Given the description of an element on the screen output the (x, y) to click on. 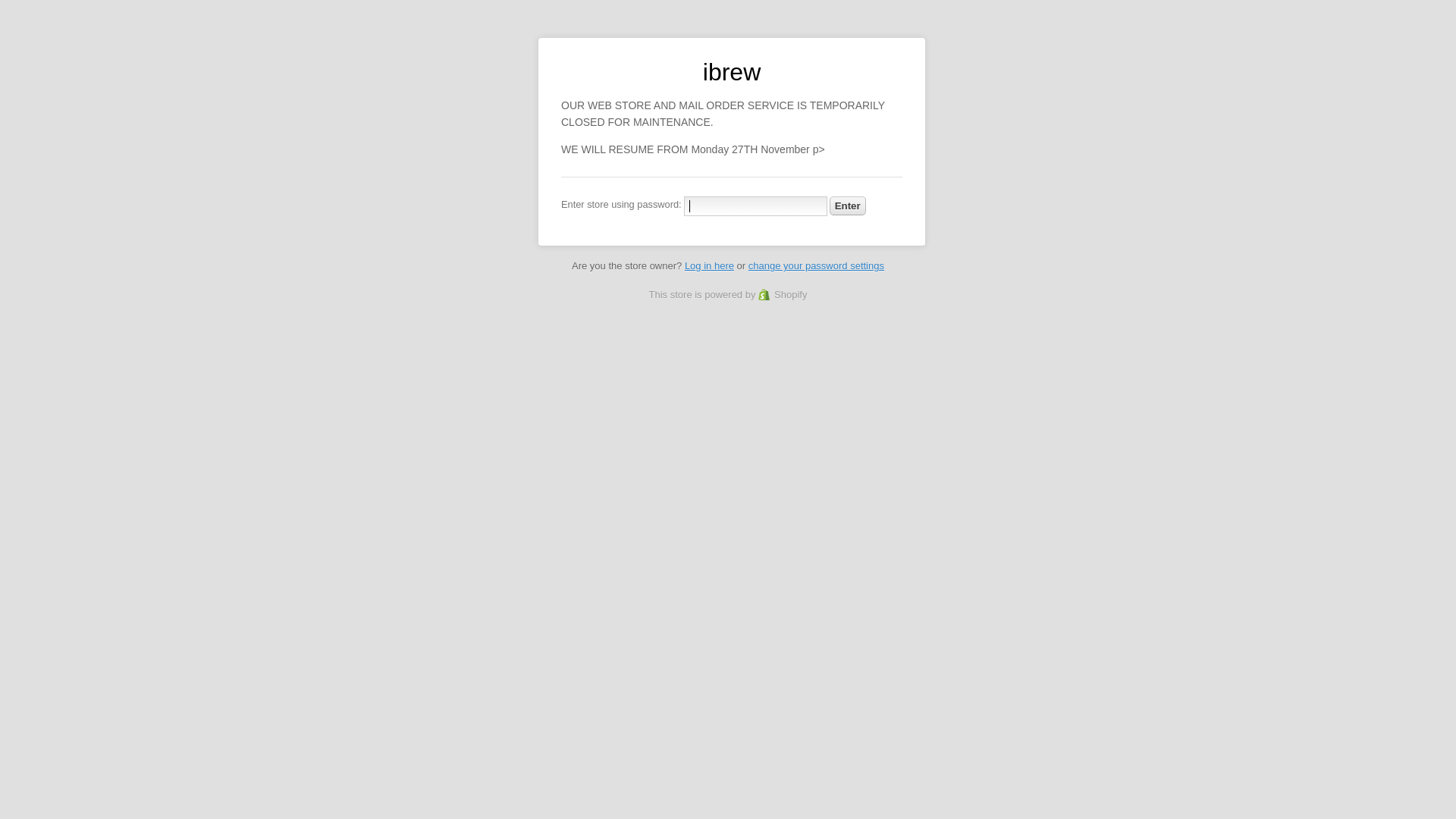
Log in here Element type: text (709, 265)
Shopify Element type: text (782, 294)
Enter Element type: text (847, 205)
change your password settings Element type: text (816, 265)
